Given the description of an element on the screen output the (x, y) to click on. 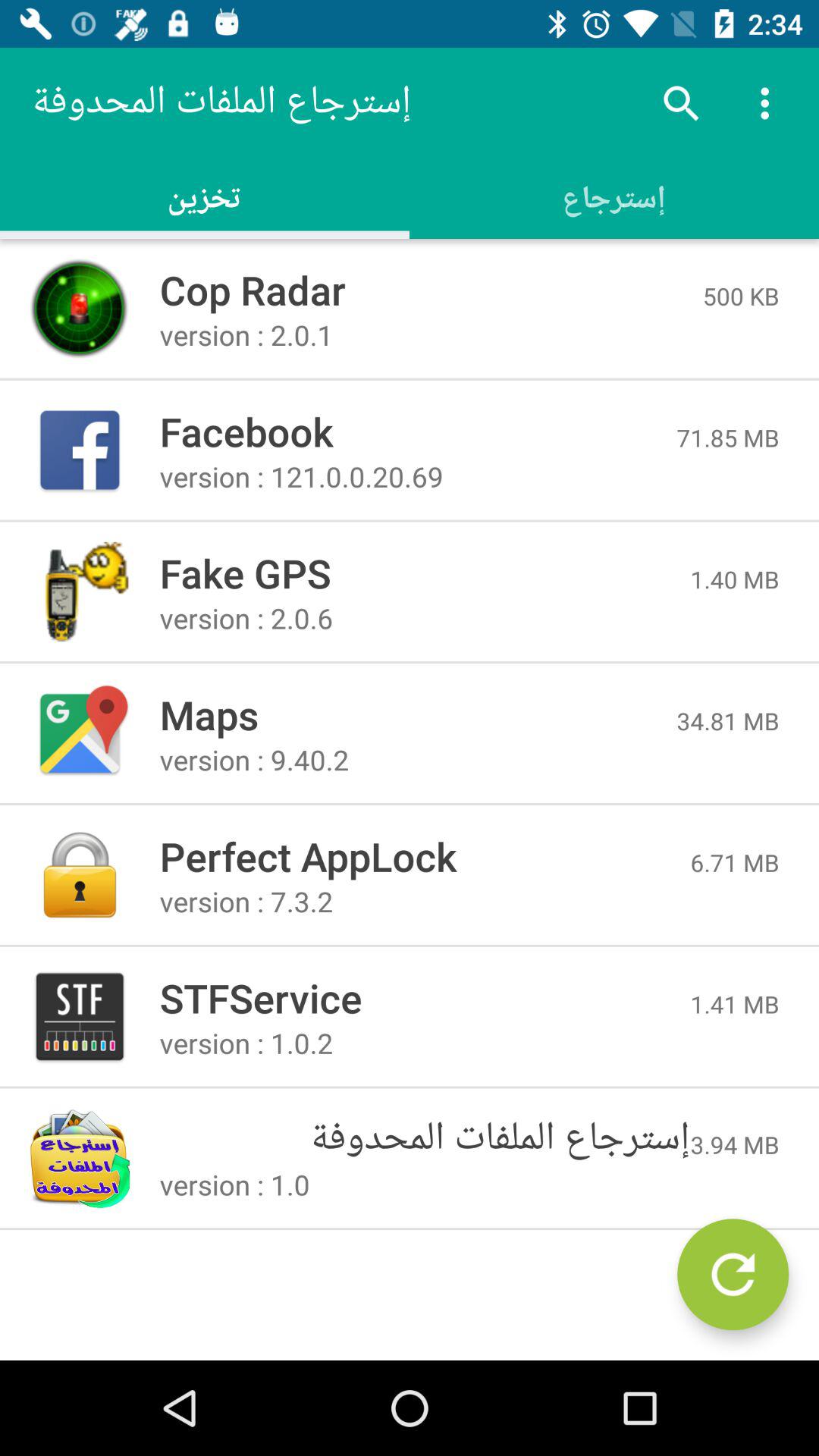
scroll to the stfservice item (424, 997)
